Given the description of an element on the screen output the (x, y) to click on. 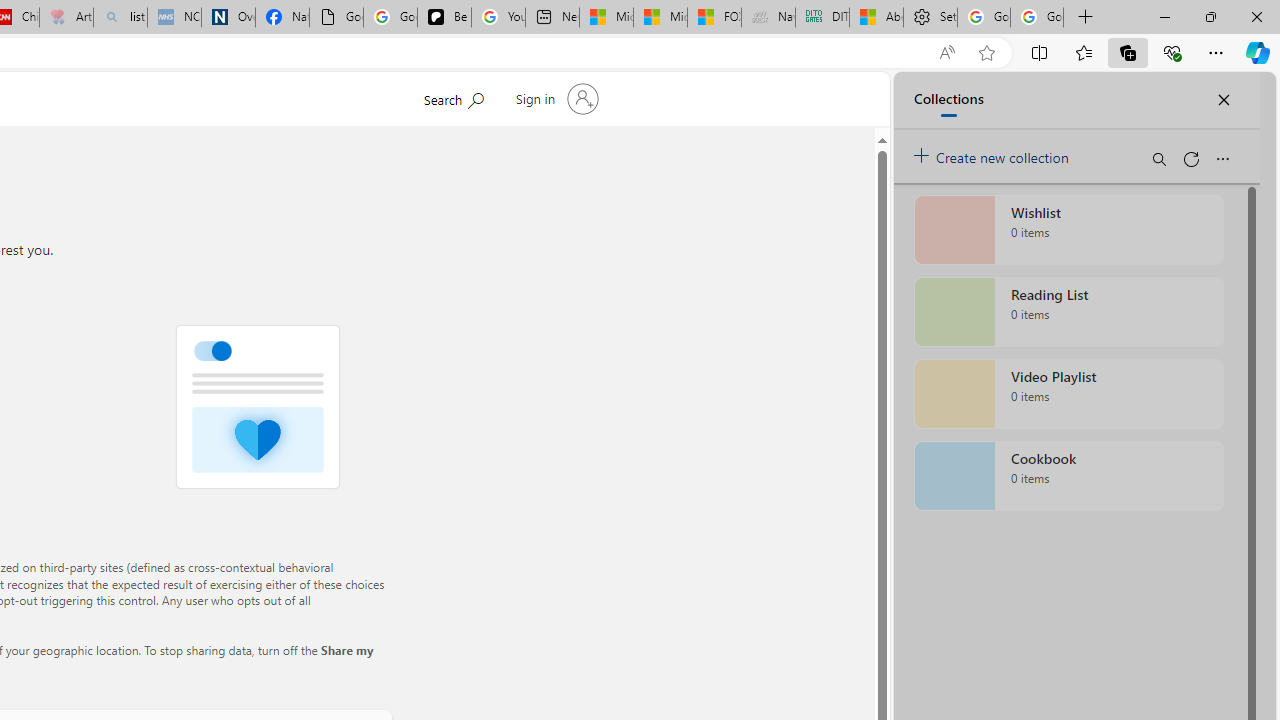
Search Microsoft.com (452, 97)
Google Analytics Opt-out Browser Add-on Download Page (336, 17)
